Given the description of an element on the screen output the (x, y) to click on. 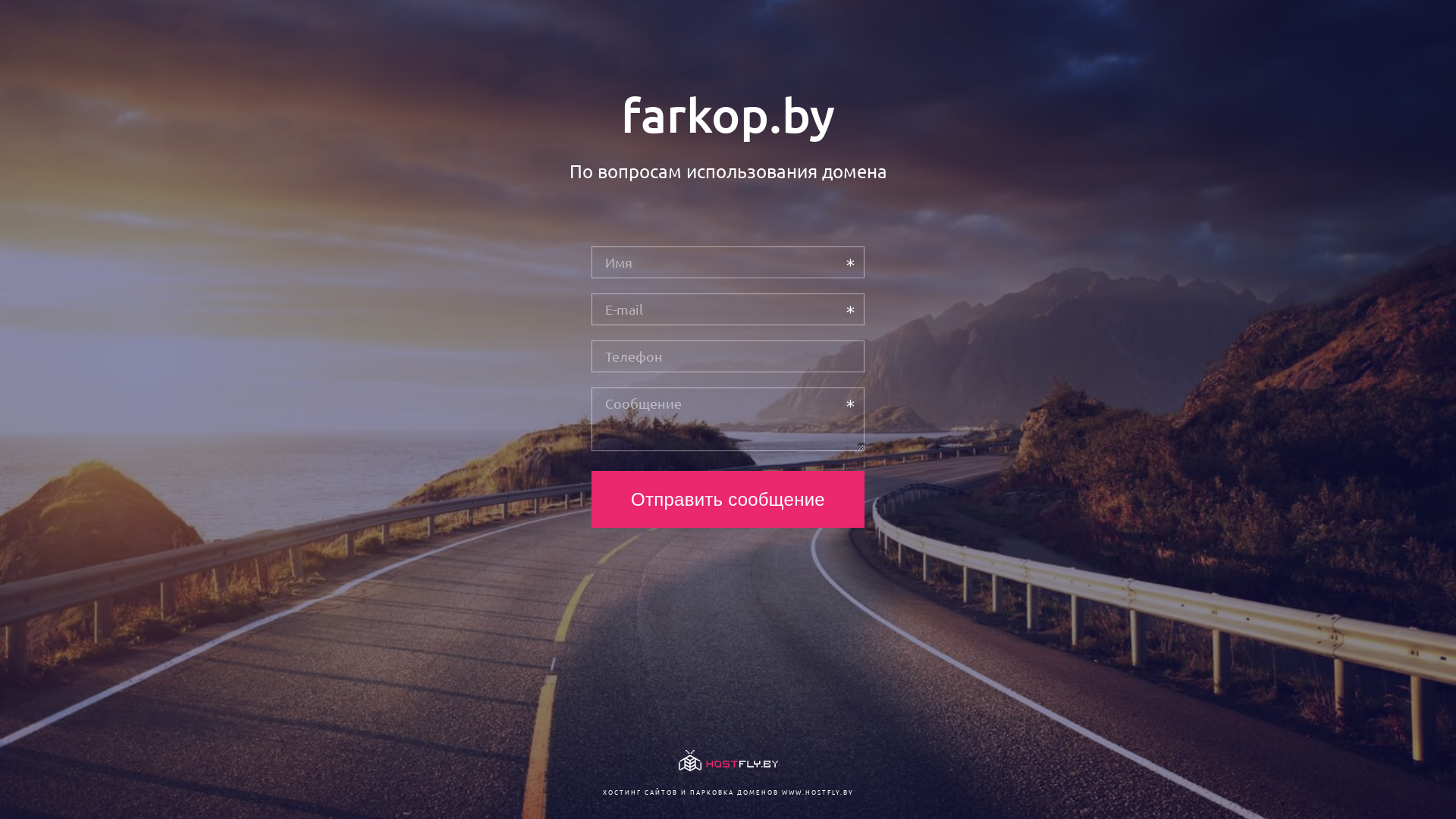
WWW.HOSTFLY.BY Element type: text (817, 791)
